Given the description of an element on the screen output the (x, y) to click on. 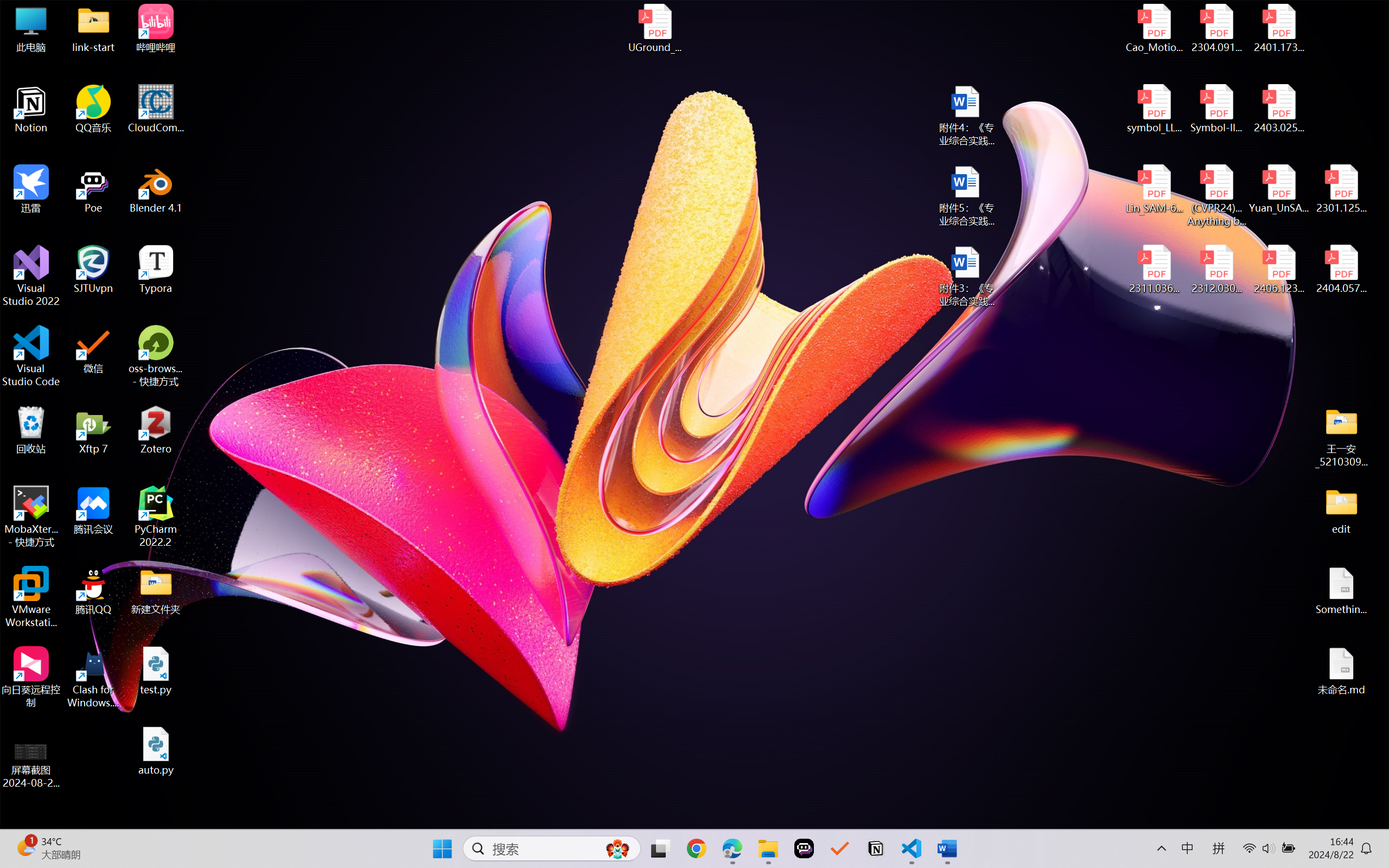
2404.05719v1.pdf (1340, 269)
2311.03658v2.pdf (1154, 269)
Google Chrome (696, 848)
Xftp 7 (93, 430)
2406.12373v2.pdf (1278, 269)
VMware Workstation Pro (31, 597)
PyCharm 2022.2 (156, 516)
Typora (156, 269)
